Given the description of an element on the screen output the (x, y) to click on. 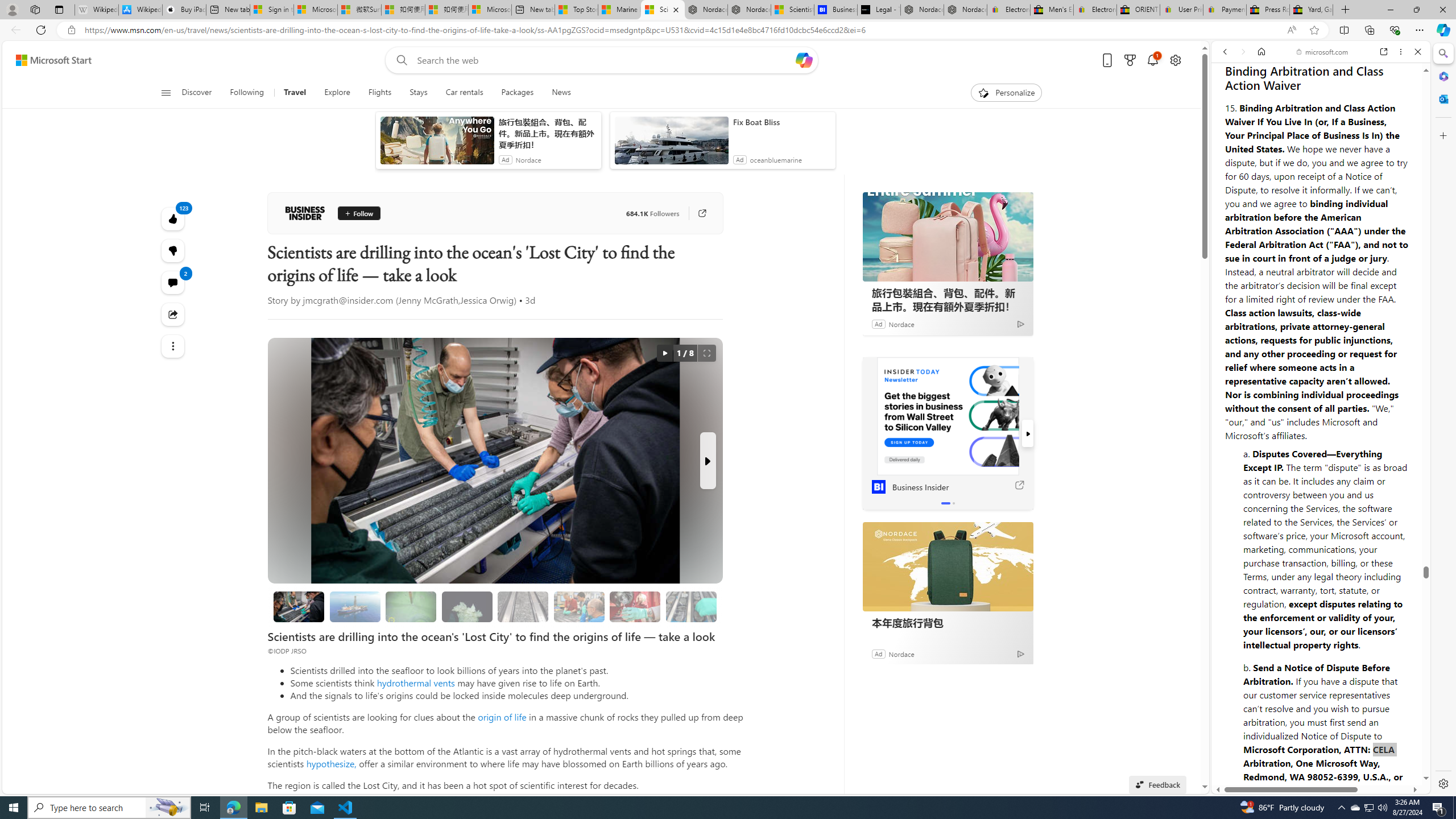
See more (172, 345)
Marine life - MSN (619, 9)
Buy iPad - Apple (184, 9)
hypothesize, (330, 763)
Outlook (1442, 98)
Business Insider (305, 213)
Ad (877, 653)
Stays (418, 92)
Packages (517, 92)
Class: at-item (172, 345)
